Given the description of an element on the screen output the (x, y) to click on. 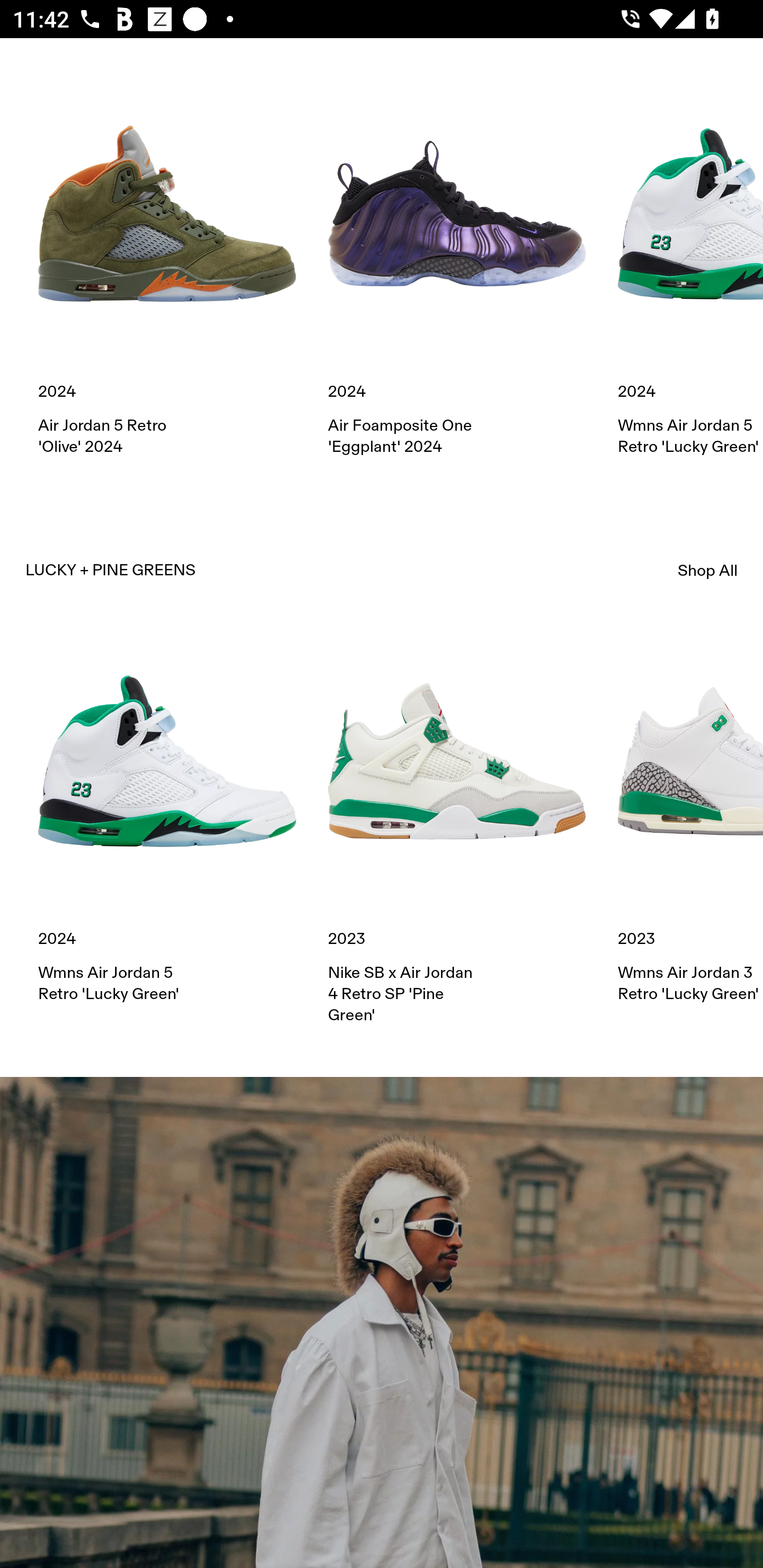
2024 Air Jordan 5 Retro 'Olive' 2024 (167, 270)
2024 Air Foamposite One 'Eggplant' 2024 (456, 270)
2024 Wmns Air Jordan 5 Retro 'Lucky Green' (690, 270)
Shop All (707, 570)
2024 Wmns Air Jordan 5 Retro 'Lucky Green' (167, 818)
2023 Nike SB x Air Jordan 4 Retro SP 'Pine Green' (456, 828)
2023 Wmns Air Jordan 3 Retro 'Lucky Green' (690, 818)
